Given the description of an element on the screen output the (x, y) to click on. 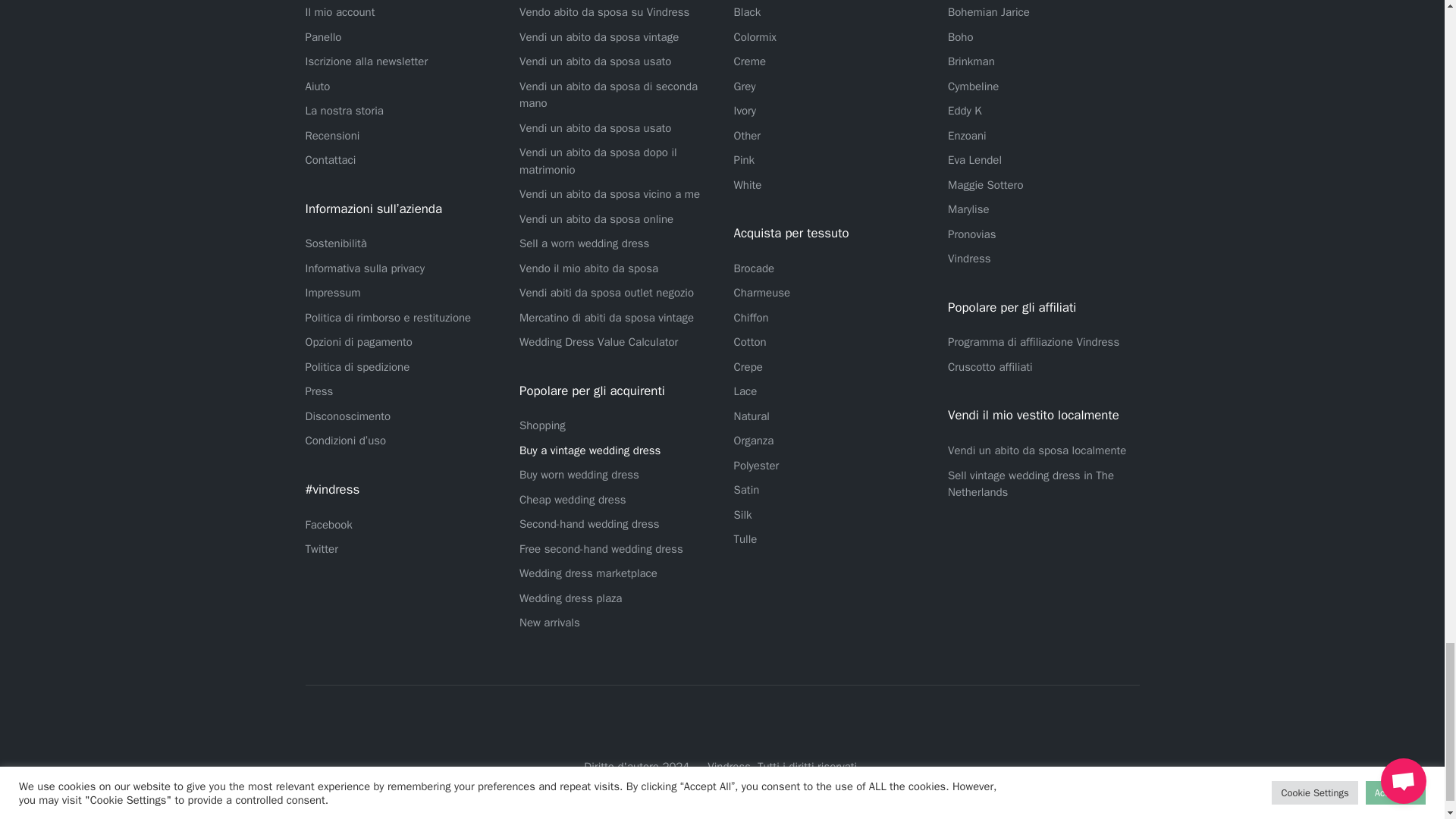
Sell worn wedding dress (584, 243)
Sustainability (335, 243)
Sell a vintage wedding dress (598, 37)
Vintage wedding dress marketplace (606, 317)
Vindress Newsletter (366, 60)
Sell a used wedding dress (595, 128)
Sell a preowned wedding dress (595, 60)
Sell a wedding dress online (595, 219)
Sell your own wedding dress (588, 268)
Seller Dashboard (322, 37)
Sell a wedding dress near me (609, 193)
Sell a second hand wedding dress (608, 94)
Sell wedding dress after wedding (598, 160)
